Given the description of an element on the screen output the (x, y) to click on. 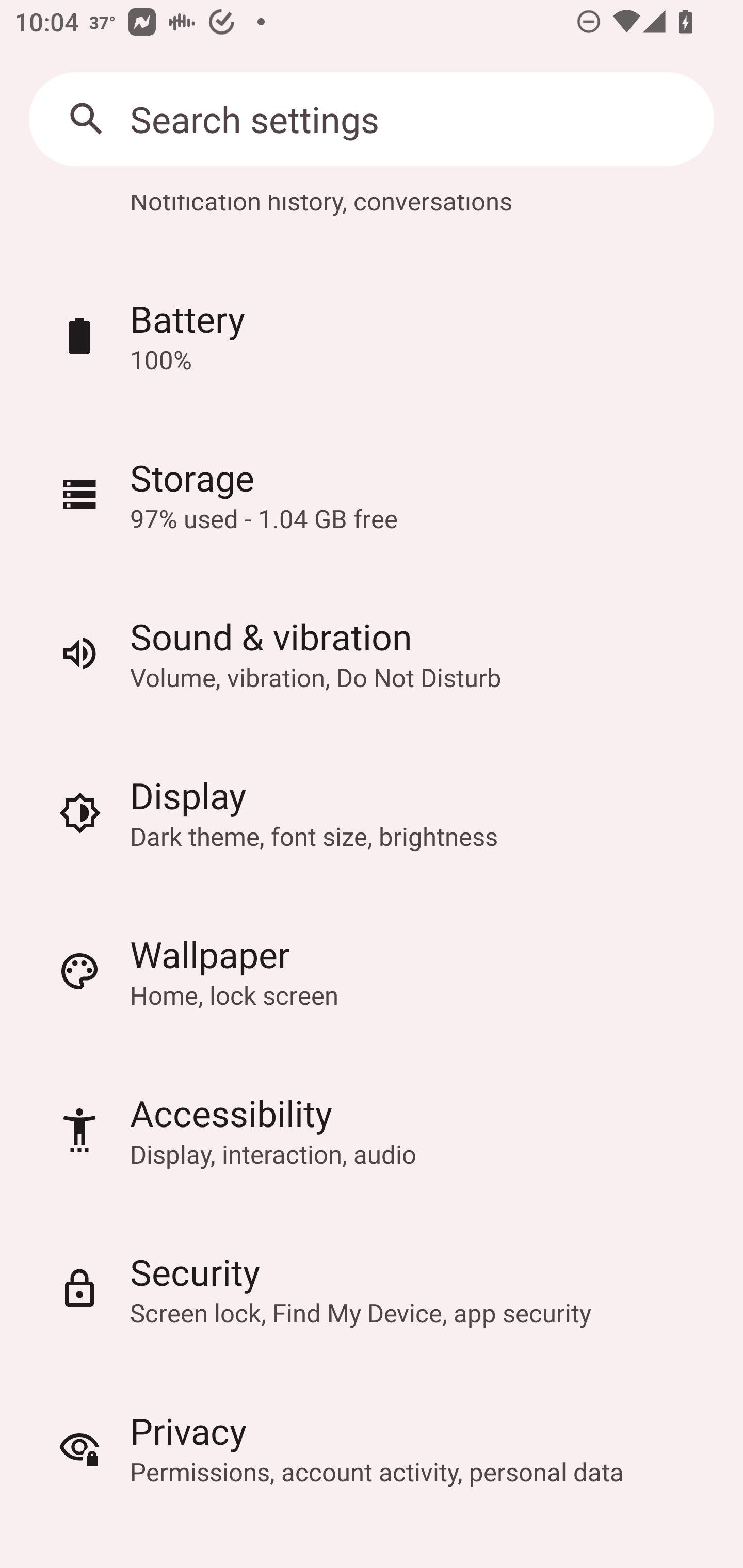
Search settings (371, 119)
Battery 100% (371, 335)
Storage 97% used - 1.04 GB free (371, 494)
Display Dark theme, font size, brightness (371, 812)
Wallpaper Home, lock screen (371, 971)
Accessibility Display, interaction, audio (371, 1129)
Security Screen lock, Find My Device, app security (371, 1288)
